Given the description of an element on the screen output the (x, y) to click on. 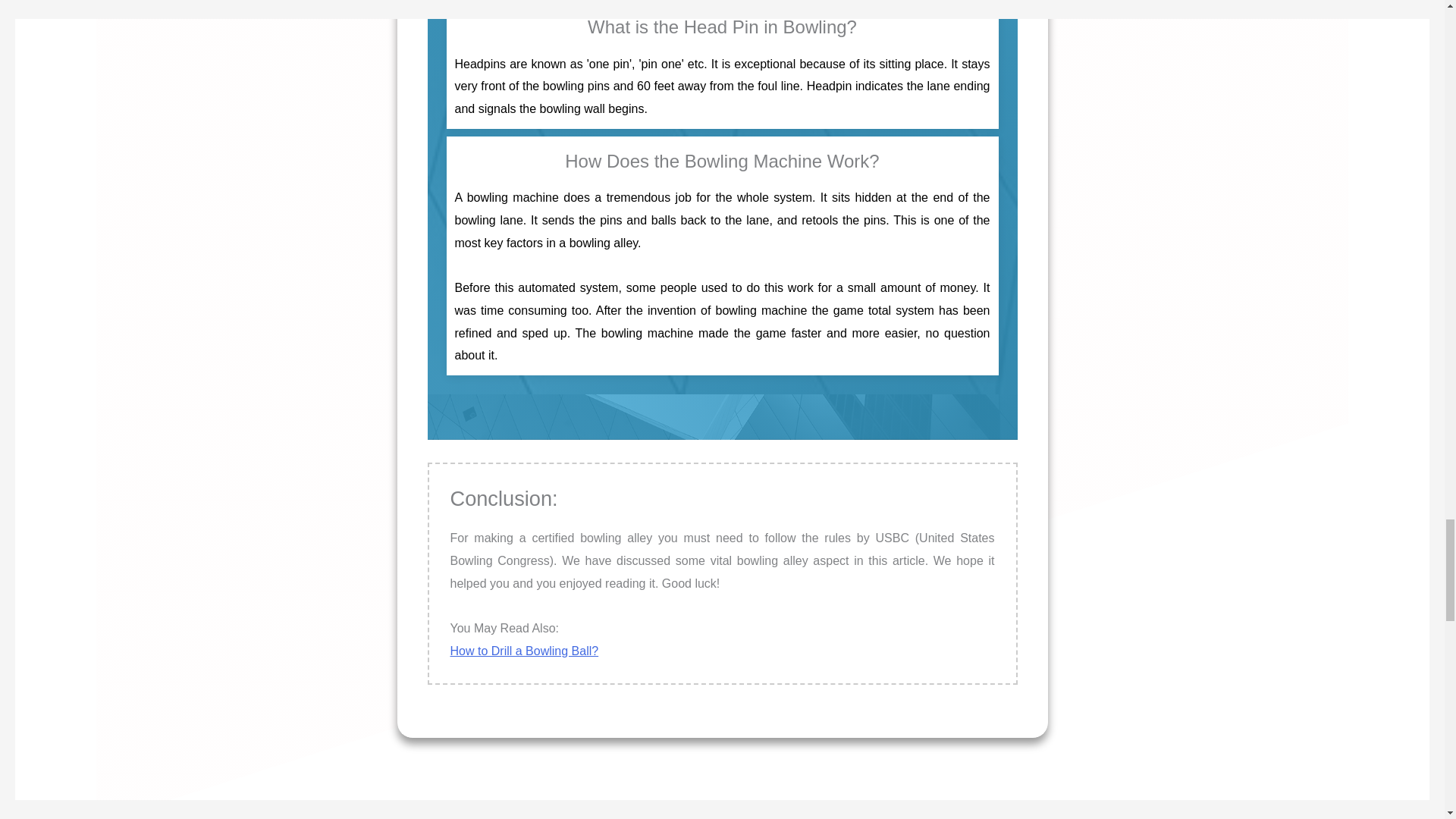
How to Drill a Bowling Ball? (523, 650)
